Given the description of an element on the screen output the (x, y) to click on. 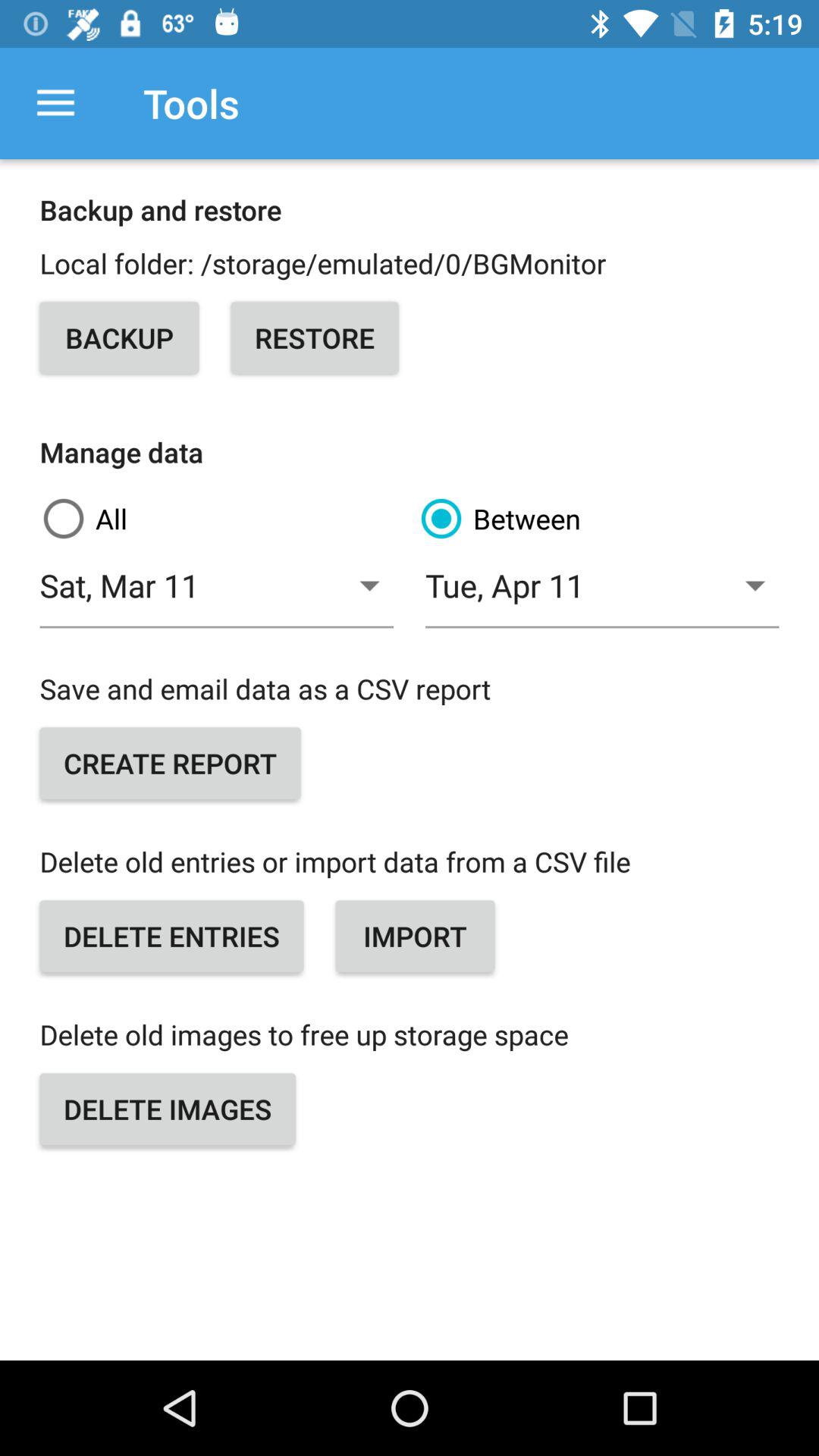
launch the item above save and email (602, 594)
